Given the description of an element on the screen output the (x, y) to click on. 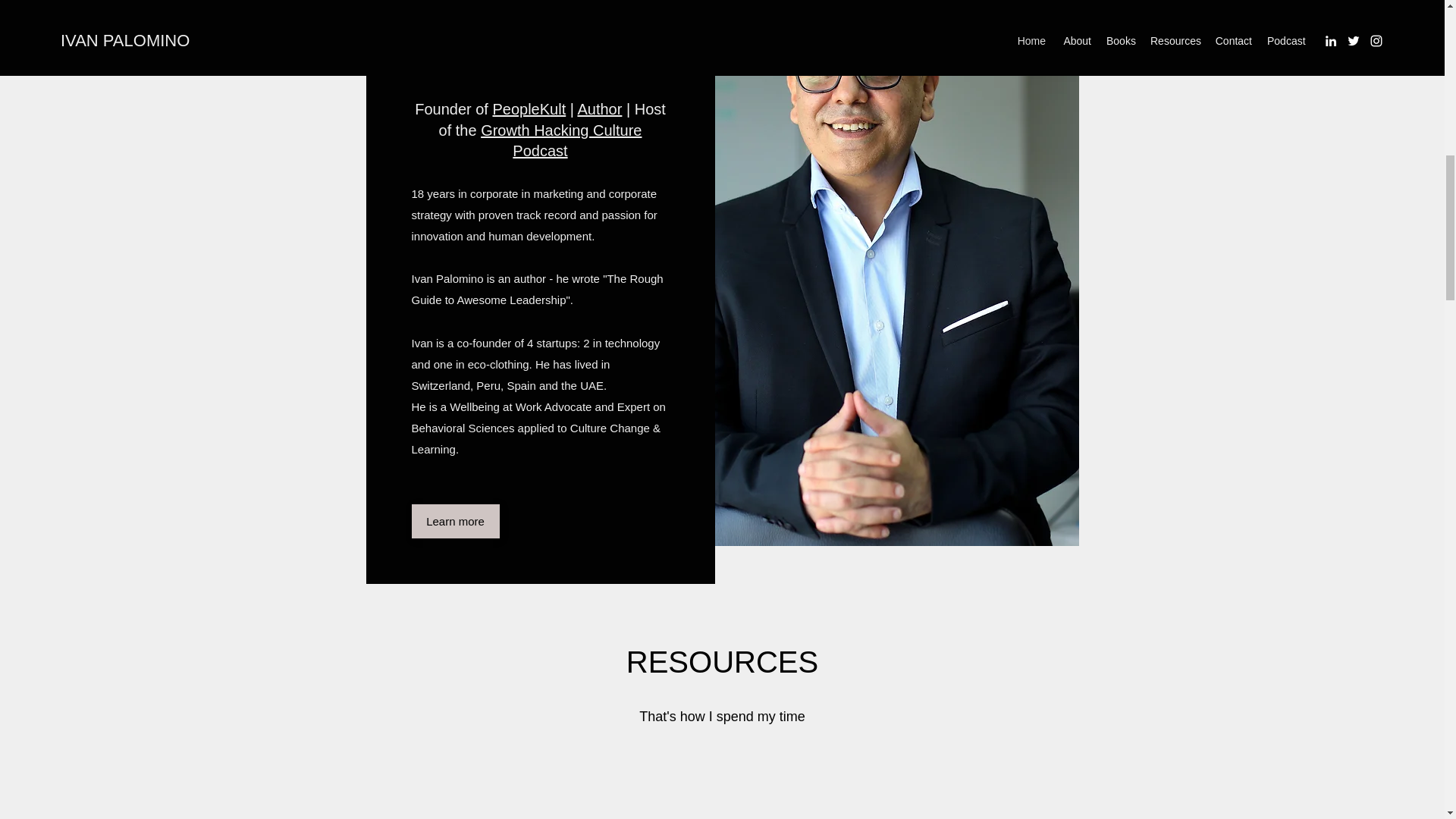
Growth Hacking Culture (561, 129)
Learn more (454, 521)
PeopleK (521, 108)
Author (598, 108)
ult (560, 108)
